Given the description of an element on the screen output the (x, y) to click on. 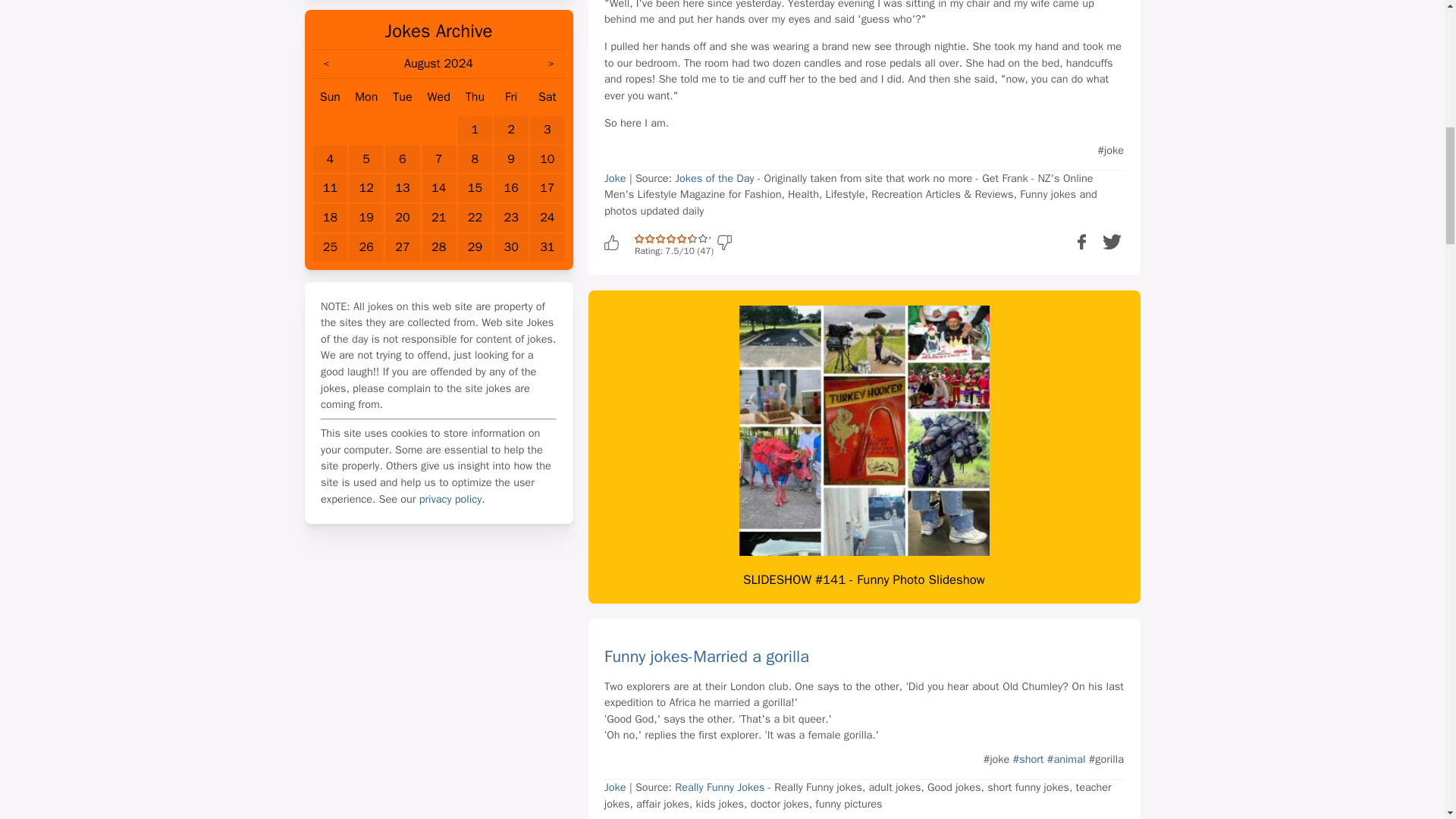
Joke (615, 178)
Joke (615, 786)
Jokes of the Day (714, 178)
Really Funny Jokes (719, 786)
